Given the description of an element on the screen output the (x, y) to click on. 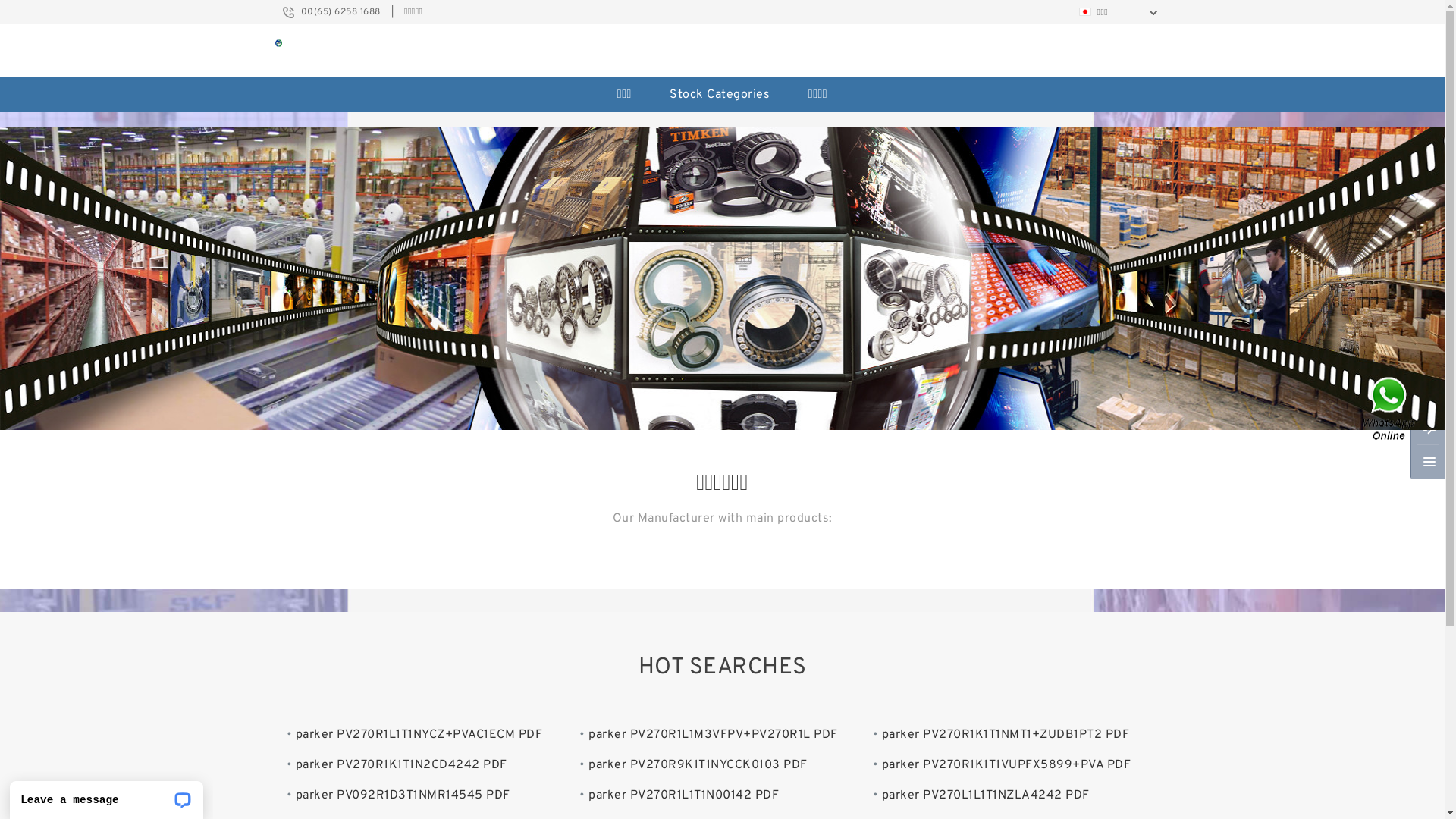
parker PV270R9K1T1NYCCK0103 PDF Element type: text (697, 764)
parker PV270R1K1T1VUPFX5899+PVA PDF Element type: text (1006, 764)
parker PV270R1K1T1N2CD4242 PDF Element type: text (401, 764)
Browse by Category Element type: hover (1429, 461)
parker PV270R1L1T1N00142 PDF Element type: text (683, 795)
Distributor Bearing Wholesalers Inc Element type: hover (722, 277)
Contact Us Element type: hover (1389, 409)
parker PV270R1K1T1NMT1+ZUDB1PT2 PDF Element type: text (1005, 734)
Stock Categories Element type: text (719, 94)
parker PV270R1L1T1NYCZ+PVAC1ECM PDF Element type: text (418, 734)
parker PV270R1L1M3VFPV+PV270R1L PDF Element type: text (712, 734)
parker PV270L1L1T1NZLA4242 PDF Element type: text (985, 795)
Send Inquiry Element type: hover (1429, 426)
parker PV092R1D3T1NMR14545 PDF Element type: text (402, 795)
